Given the description of an element on the screen output the (x, y) to click on. 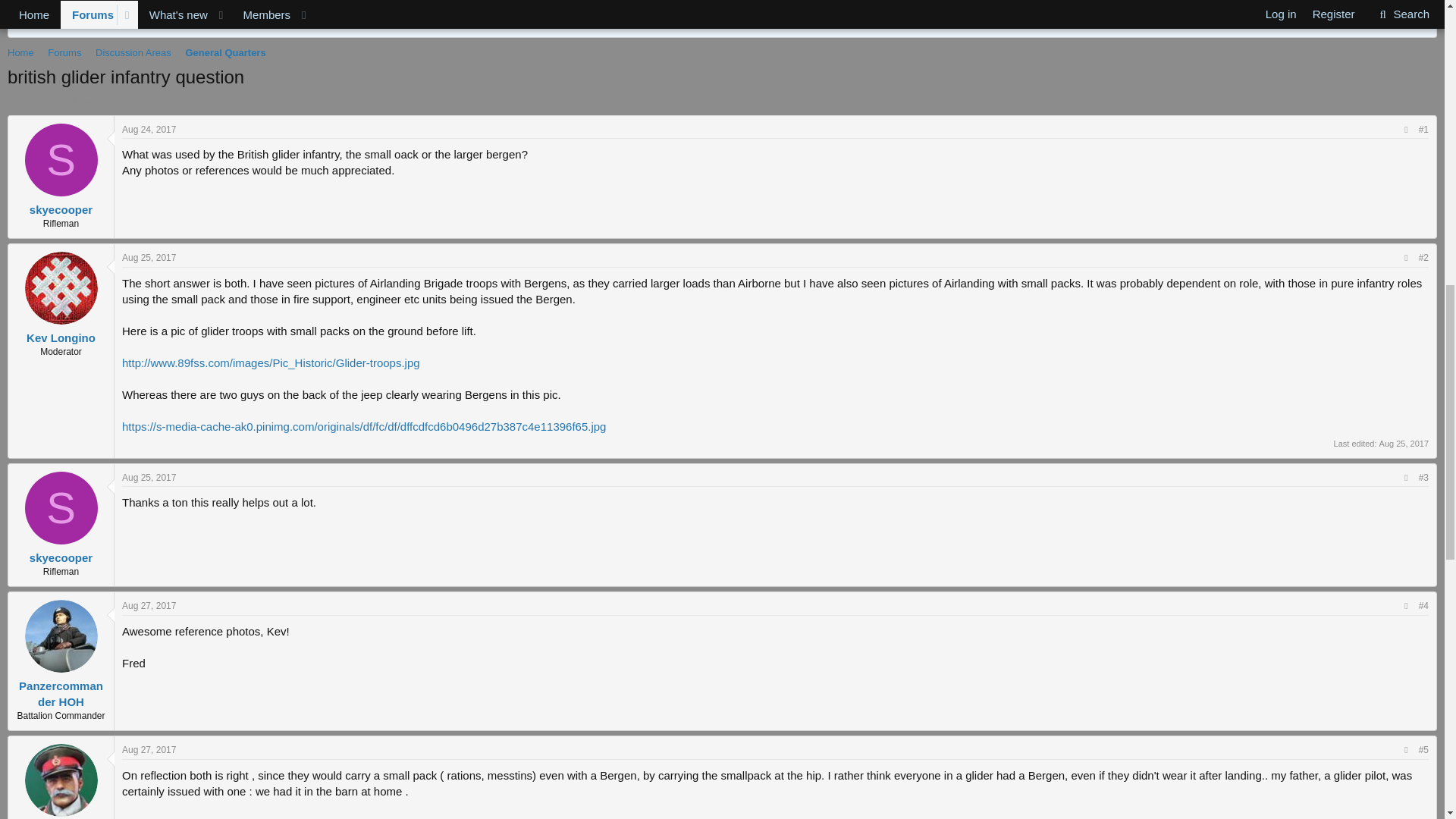
Aug 27, 2017 at 7:33 AM (149, 749)
Aug 25, 2017 at 12:51 AM (149, 477)
Thread starter (9, 99)
S (60, 159)
Aug 27, 2017 at 1:02 AM (149, 605)
Aug 24, 2017 at 11:24 PM (107, 99)
Start date (74, 99)
Forums (64, 52)
Aug 24, 2017 (107, 99)
skyecooper (61, 209)
General Quarters (224, 52)
Aug 24, 2017 at 11:24 PM (149, 129)
Aug 25, 2017 at 12:18 AM (1403, 442)
Aug 25, 2017 at 12:12 AM (149, 257)
skyecooper (38, 99)
